Given the description of an element on the screen output the (x, y) to click on. 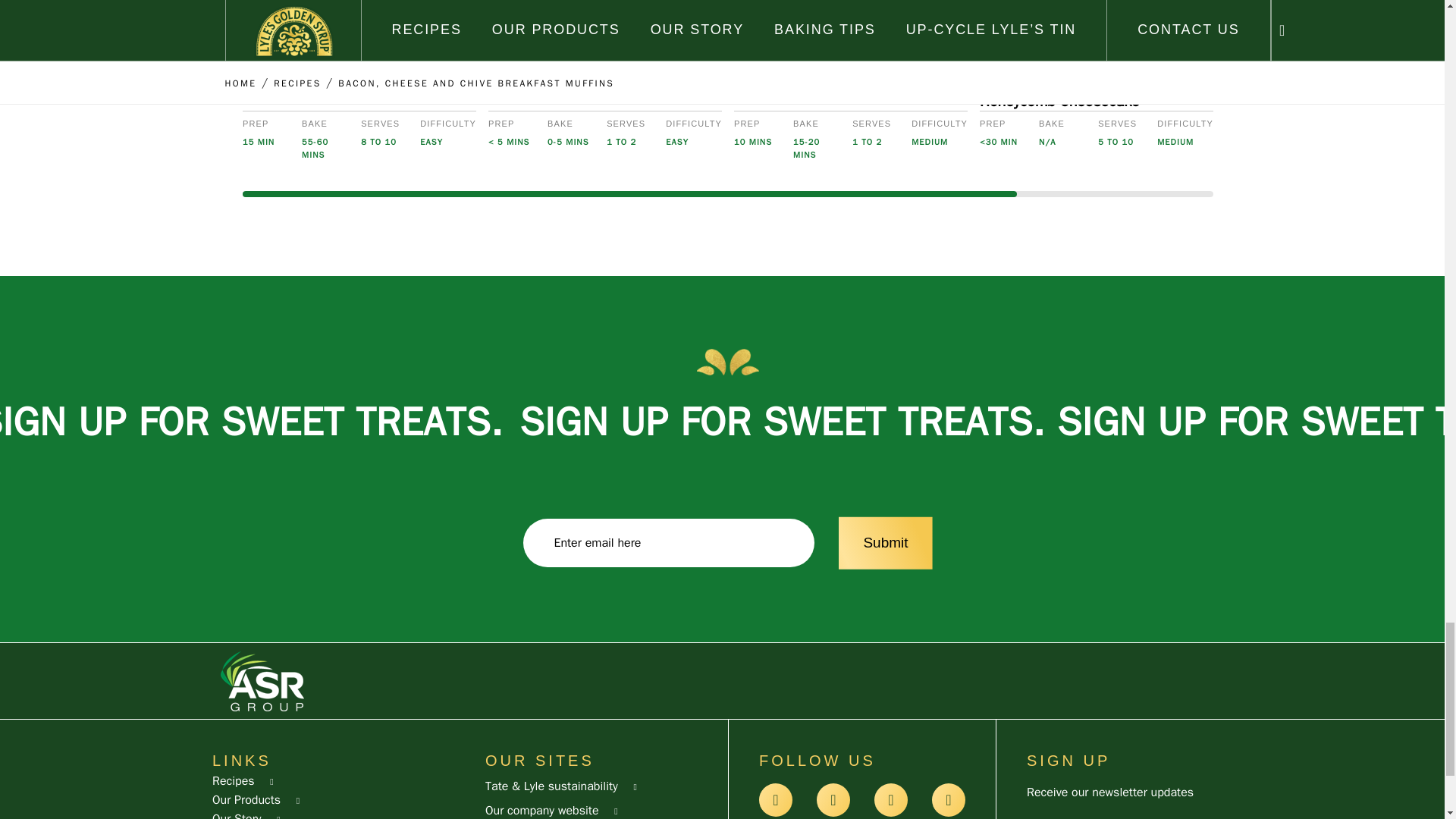
Submit (885, 543)
